Given the description of an element on the screen output the (x, y) to click on. 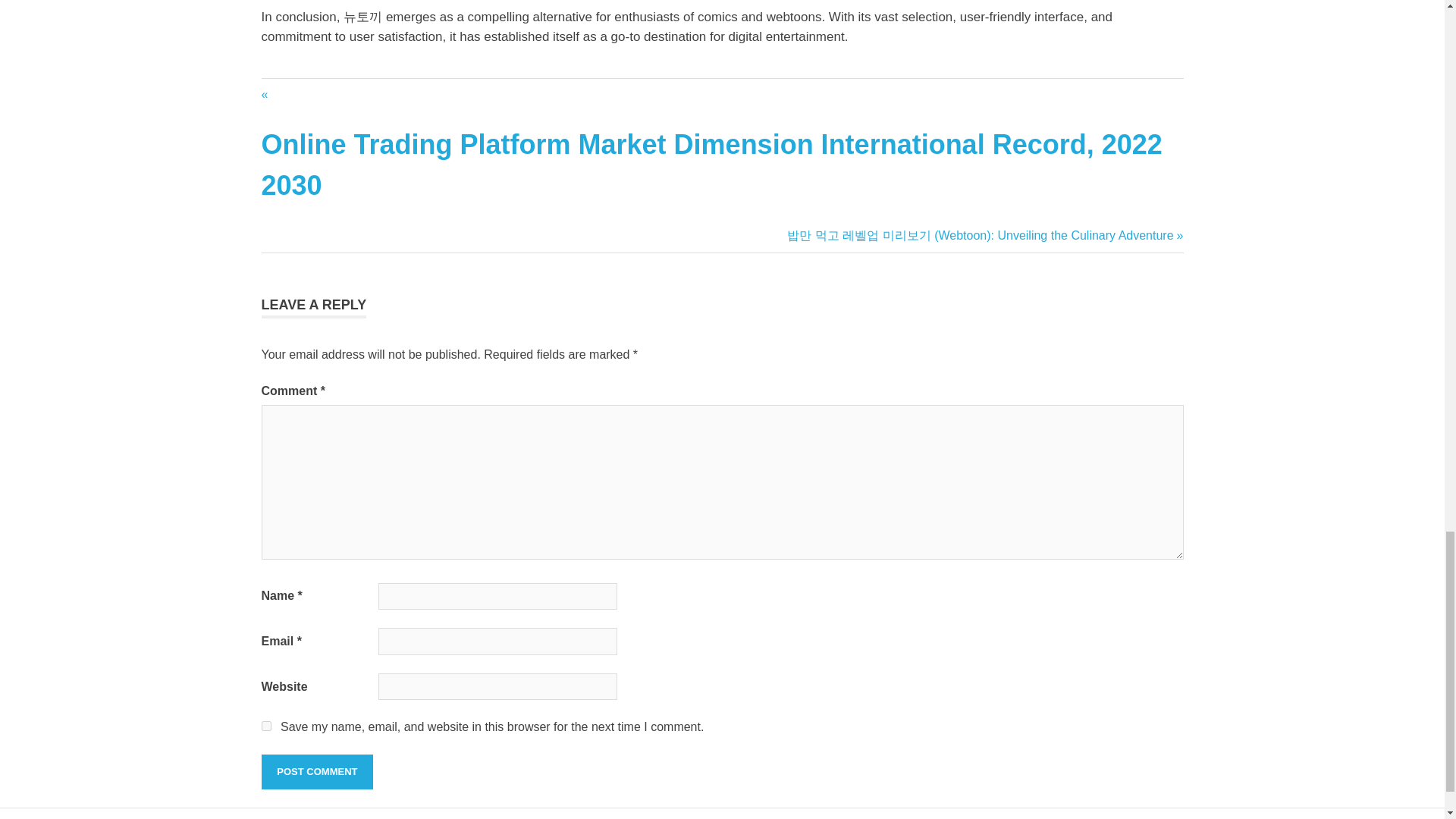
Post Comment (316, 771)
Post Comment (316, 771)
yes (265, 726)
